Given the description of an element on the screen output the (x, y) to click on. 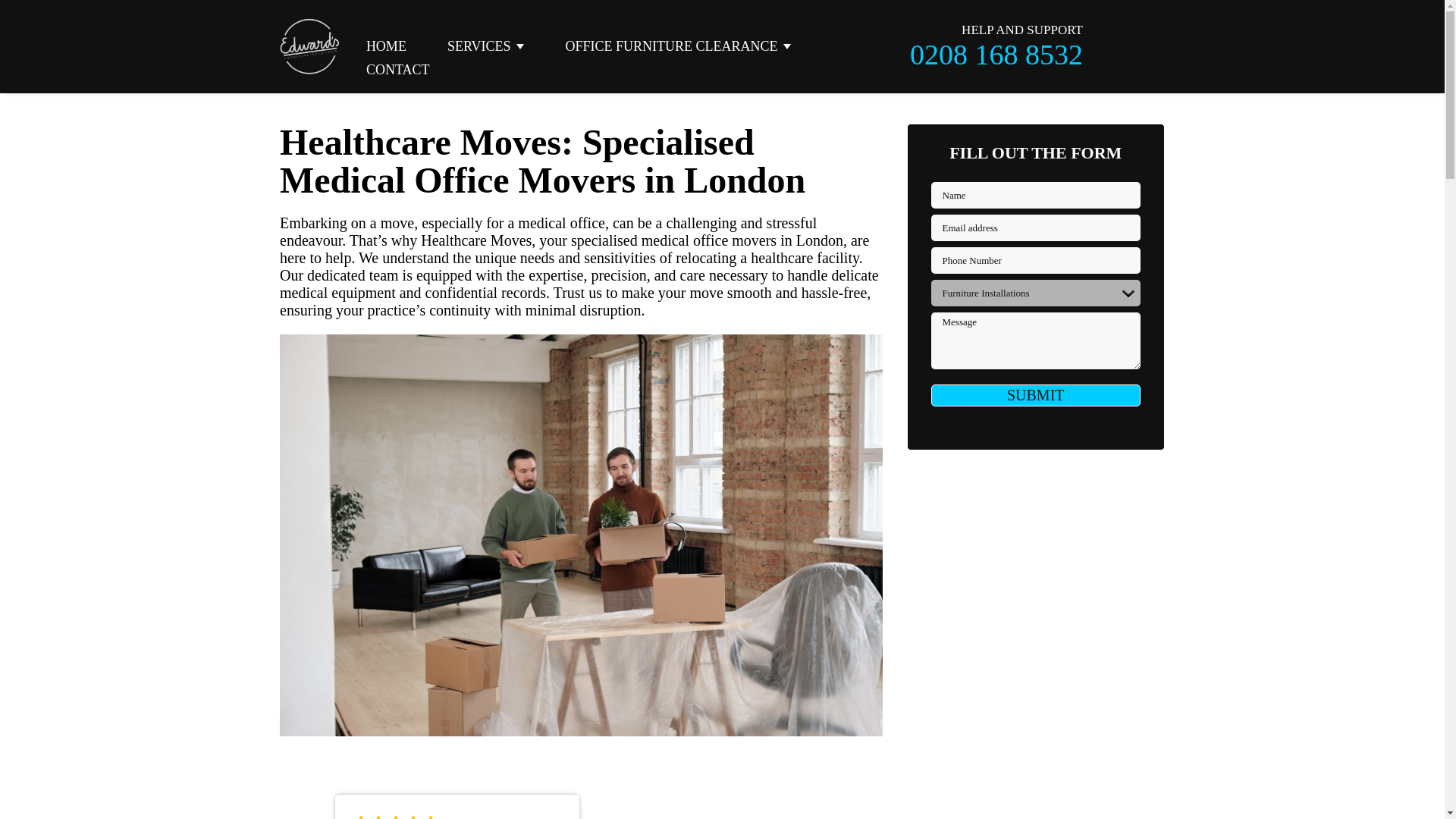
SUBMIT (1036, 395)
0208 168 8532 (996, 53)
OFFICE FURNITURE CLEARANCE (673, 45)
SERVICES (481, 45)
SUBMIT (1036, 395)
CONTACT (397, 69)
HOME (386, 45)
